Given the description of an element on the screen output the (x, y) to click on. 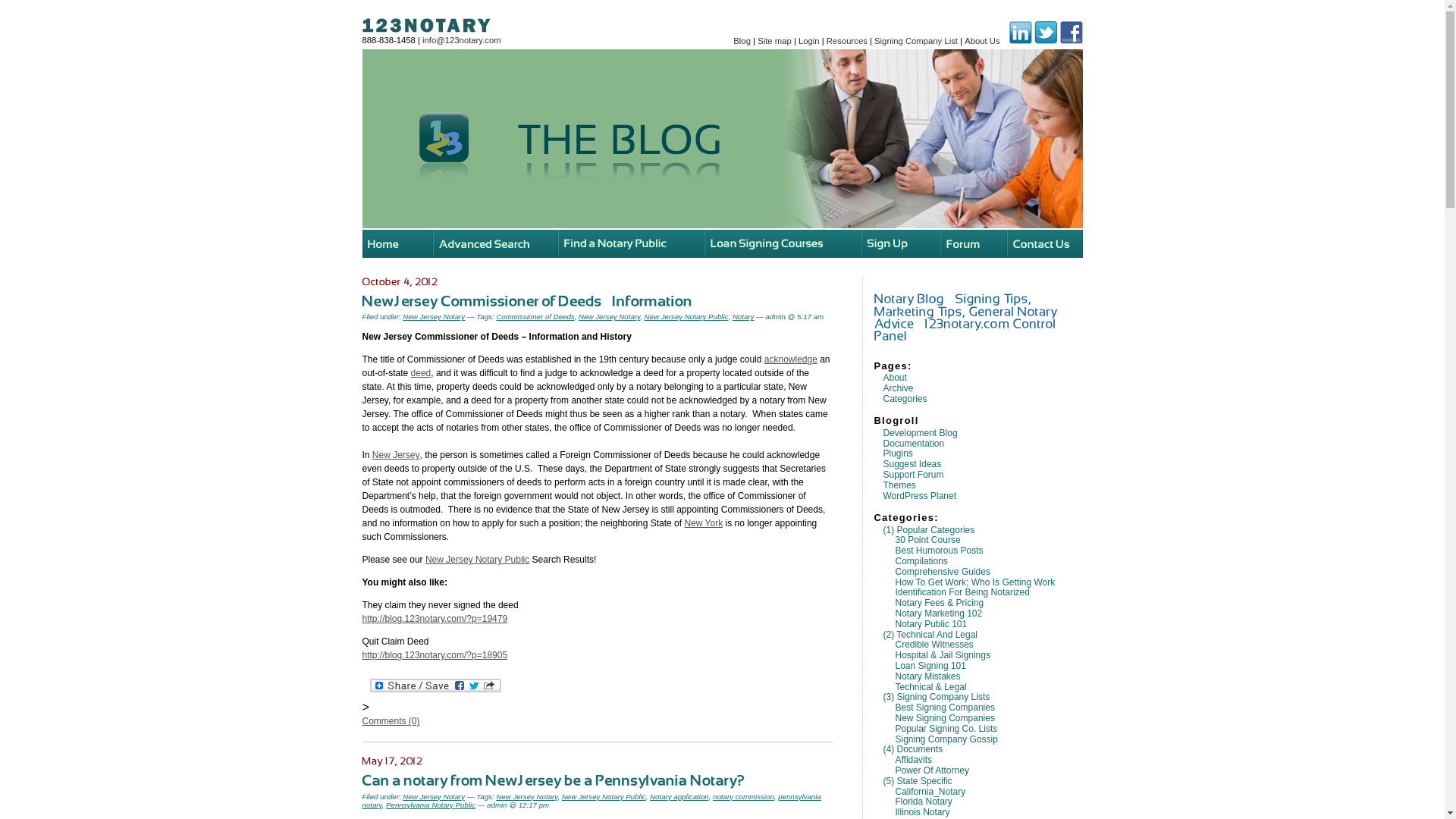
Identification For Being Notarized Element type: text (961, 591)
Documentation Element type: text (913, 443)
(1) Popular Categories Element type: text (928, 529)
Notary application Element type: text (679, 796)
New York Element type: text (703, 522)
Categories Element type: text (904, 398)
Signing Company Gossip Element type: text (945, 739)
info@123notary.com Element type: text (461, 39)
Login Element type: text (808, 40)
Notary Mistakes Element type: text (927, 676)
Technical & Legal Element type: text (930, 686)
About Us Element type: text (981, 40)
acknowledge Element type: text (790, 359)
30 Point Course Element type: text (927, 539)
Illinois Notary Element type: text (921, 811)
(2) Technical And Legal Element type: text (929, 634)
New Jersey Notary Element type: text (526, 796)
New Jersey Notary Element type: text (609, 316)
(4) Documents Element type: text (912, 748)
(5) State Specific Element type: text (916, 780)
Best Signing Companies Element type: text (944, 707)
Florida Notary Element type: text (922, 801)
New Jersey Notary Public Element type: text (603, 796)
Notary Marketing 102 Element type: text (938, 613)
New Jersey Notary Public Element type: text (686, 316)
Notary Element type: text (743, 316)
New Jersey Notary Element type: text (433, 796)
New Jersey Notary Public Element type: text (477, 559)
Loan Signing 101 Element type: text (929, 665)
Plugins Element type: text (897, 453)
Signing Company List Element type: text (915, 40)
California_Notary Element type: text (929, 791)
About Element type: text (894, 377)
Affidavits Element type: text (912, 759)
Support Forum Element type: text (912, 474)
Resources Element type: text (846, 40)
Popular Signing Co. Lists Element type: text (945, 728)
deed Element type: text (421, 372)
Notary Public 101 Element type: text (930, 623)
Site map Element type: text (774, 40)
Compilations Element type: text (920, 560)
Archive Element type: text (897, 387)
New Jersey Element type: text (396, 454)
Notary Fees & Pricing Element type: text (938, 602)
Pennsylvania Notary Public Element type: text (430, 804)
New Jersey Notary Element type: text (433, 316)
Blog Element type: text (741, 40)
Power Of Attorney Element type: text (931, 770)
http://blog.123notary.com/?p=19479 Element type: text (435, 618)
Comprehensive Guides Element type: text (941, 571)
notary commission Element type: text (743, 796)
Development Blog Element type: text (919, 432)
WordPress Planet Element type: text (919, 495)
How To Get Work; Who Is Getting Work Element type: text (974, 582)
Comments (0) Element type: text (391, 720)
Best Humorous Posts Element type: text (938, 550)
New Signing Companies Element type: text (944, 717)
Suggest Ideas Element type: text (911, 463)
Themes Element type: text (898, 485)
Commissioner of Deeds Element type: text (534, 316)
Credible Witnesses Element type: text (933, 644)
(3) Signing Company Lists Element type: text (935, 696)
pennsylvania notary Element type: text (591, 800)
Hospital & Jail Signings Element type: text (941, 654)
http://blog.123notary.com/?p=18905 Element type: text (435, 654)
